Given the description of an element on the screen output the (x, y) to click on. 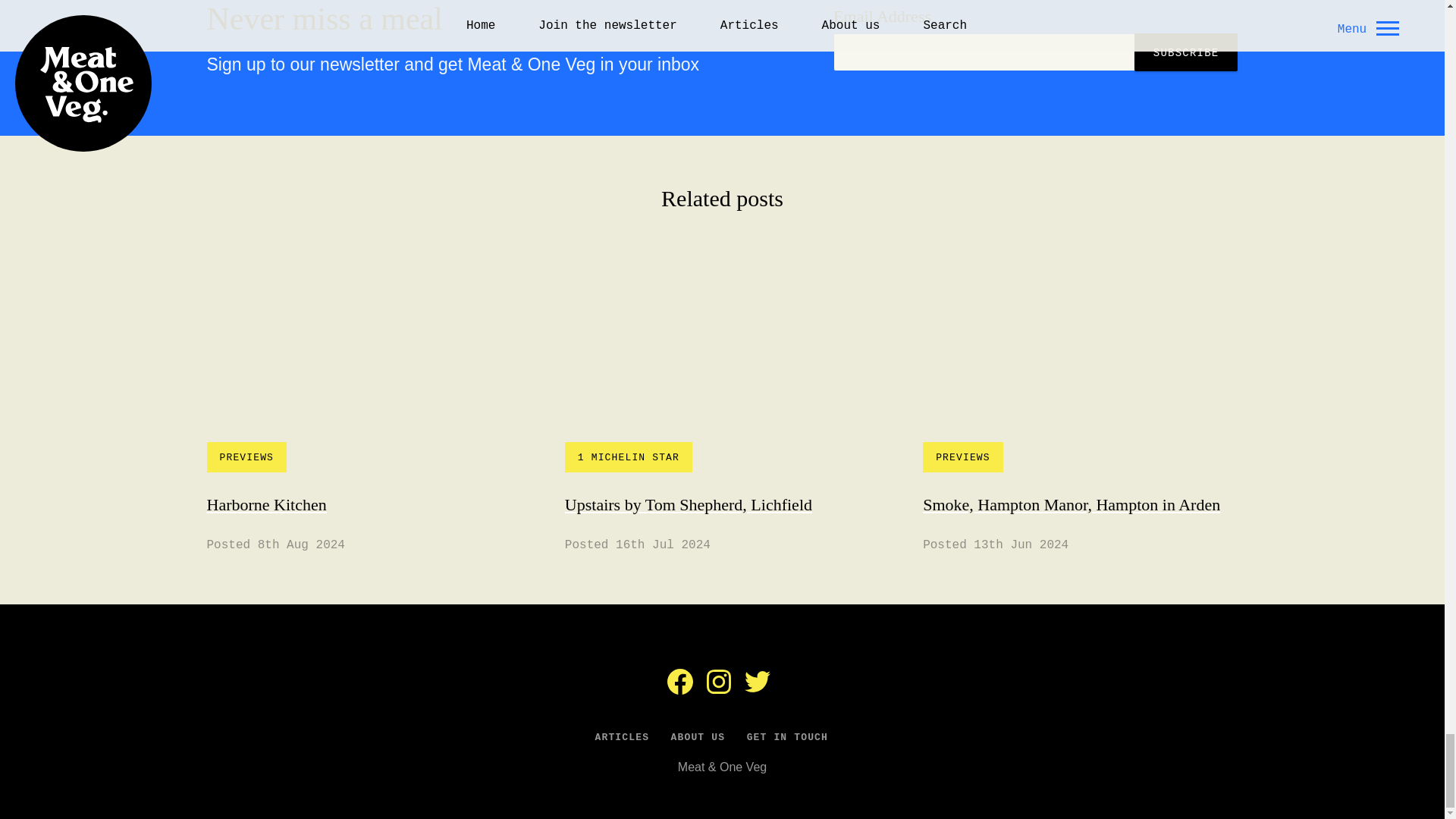
Subscribe (1186, 52)
Subscribe (363, 407)
